Given the description of an element on the screen output the (x, y) to click on. 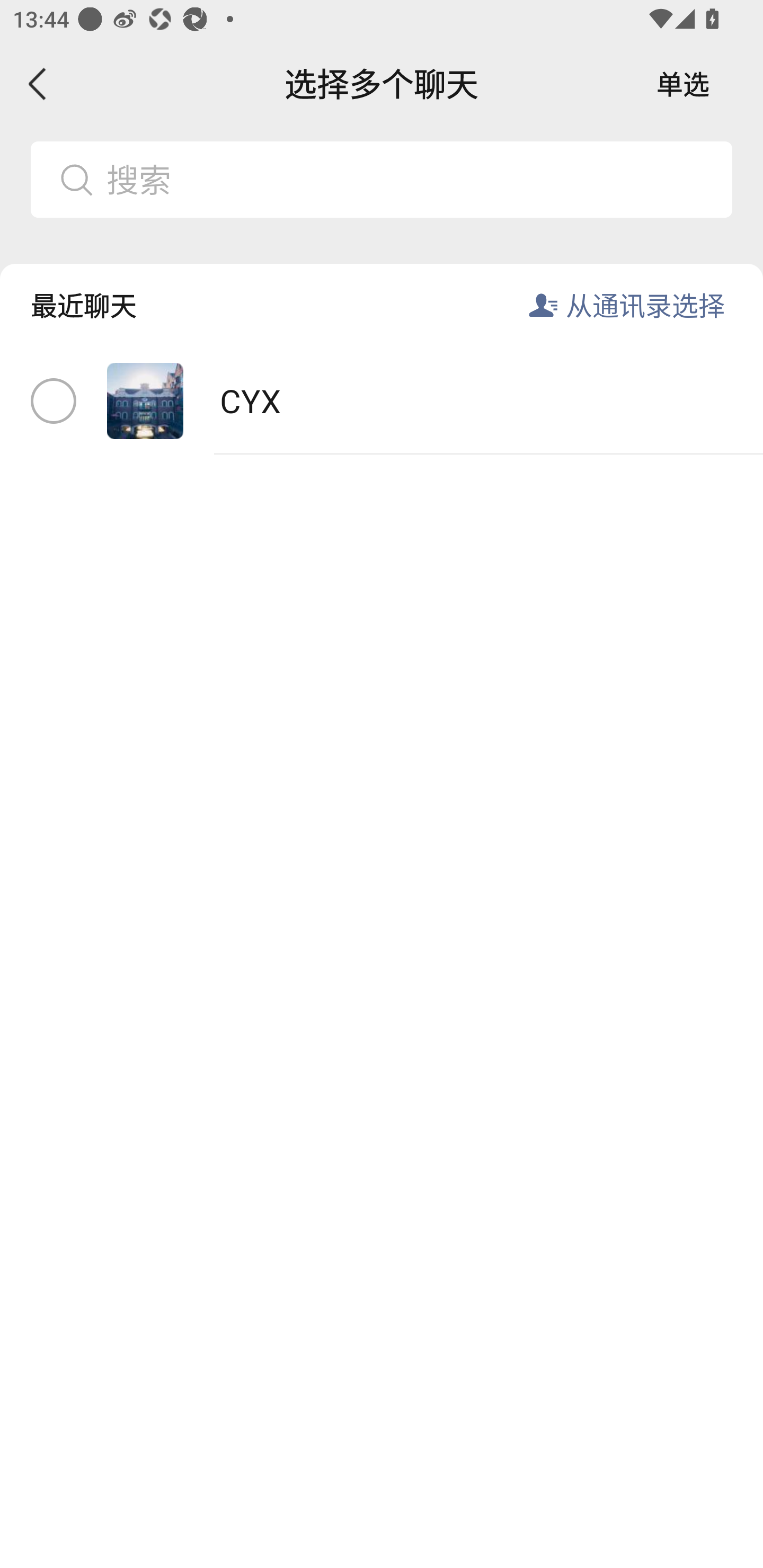
返回 (38, 83)
单选 (683, 83)
搜索 (411, 179)
从通讯录选择 (645, 304)
CYX (381, 401)
